Given the description of an element on the screen output the (x, y) to click on. 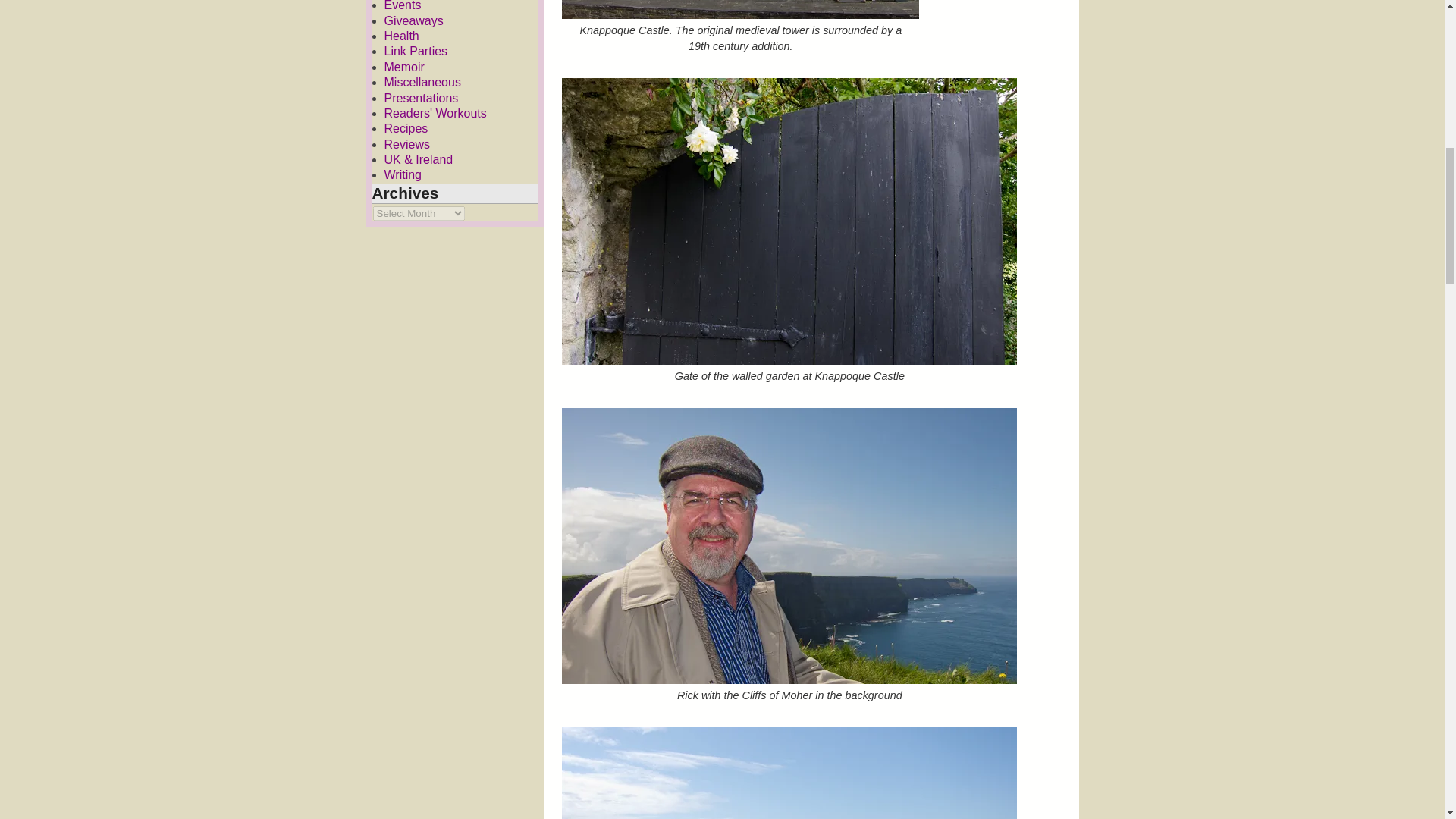
Rick and Cliffs of Moher (789, 545)
Knappoque Castle (740, 9)
Knappoque Castle Garden Gate (789, 220)
The Burren and the Atlantic Ocean (789, 773)
